Given the description of an element on the screen output the (x, y) to click on. 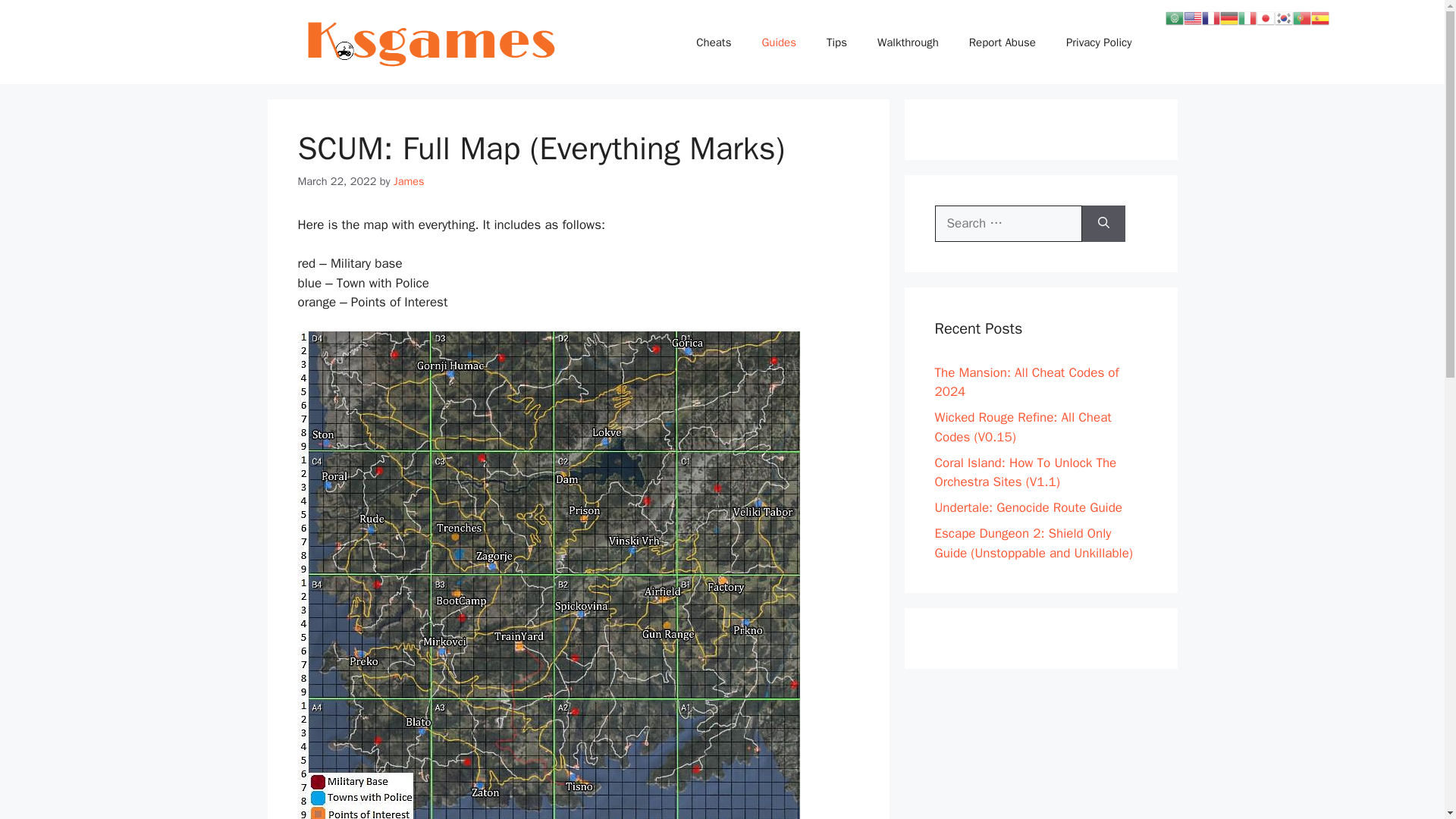
Cheats (713, 42)
Arabic (1174, 17)
James (409, 181)
View all posts by James (409, 181)
English (1192, 17)
German (1229, 17)
Italian (1247, 17)
Tips (835, 42)
French (1211, 17)
Guides (777, 42)
Report Abuse (1002, 42)
Search for: (1007, 223)
Walkthrough (907, 42)
Privacy Policy (1099, 42)
Undertale: Genocide Route Guide (1027, 507)
